Given the description of an element on the screen output the (x, y) to click on. 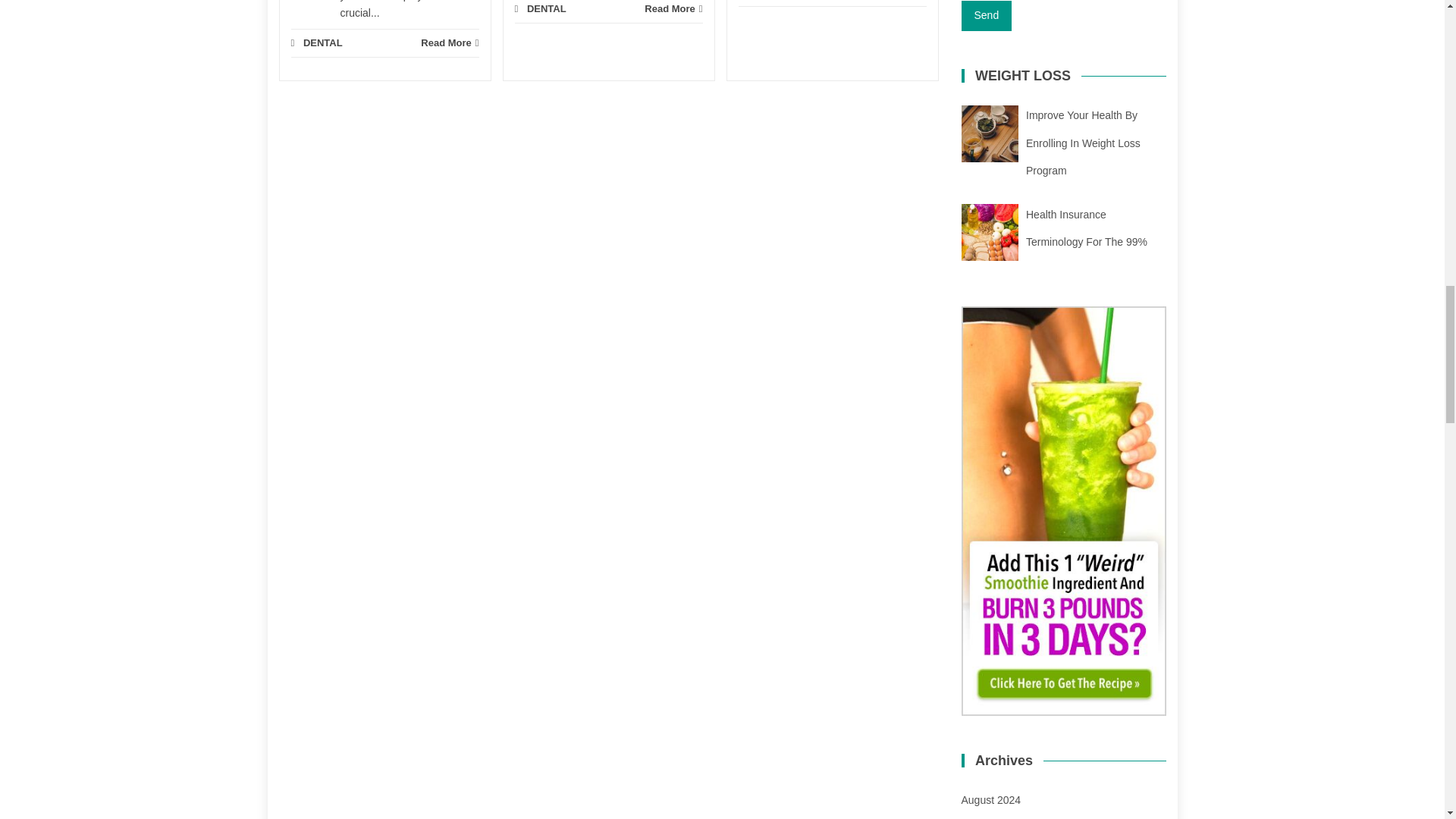
Read More (449, 42)
Send (985, 15)
DENTAL (322, 42)
